Given the description of an element on the screen output the (x, y) to click on. 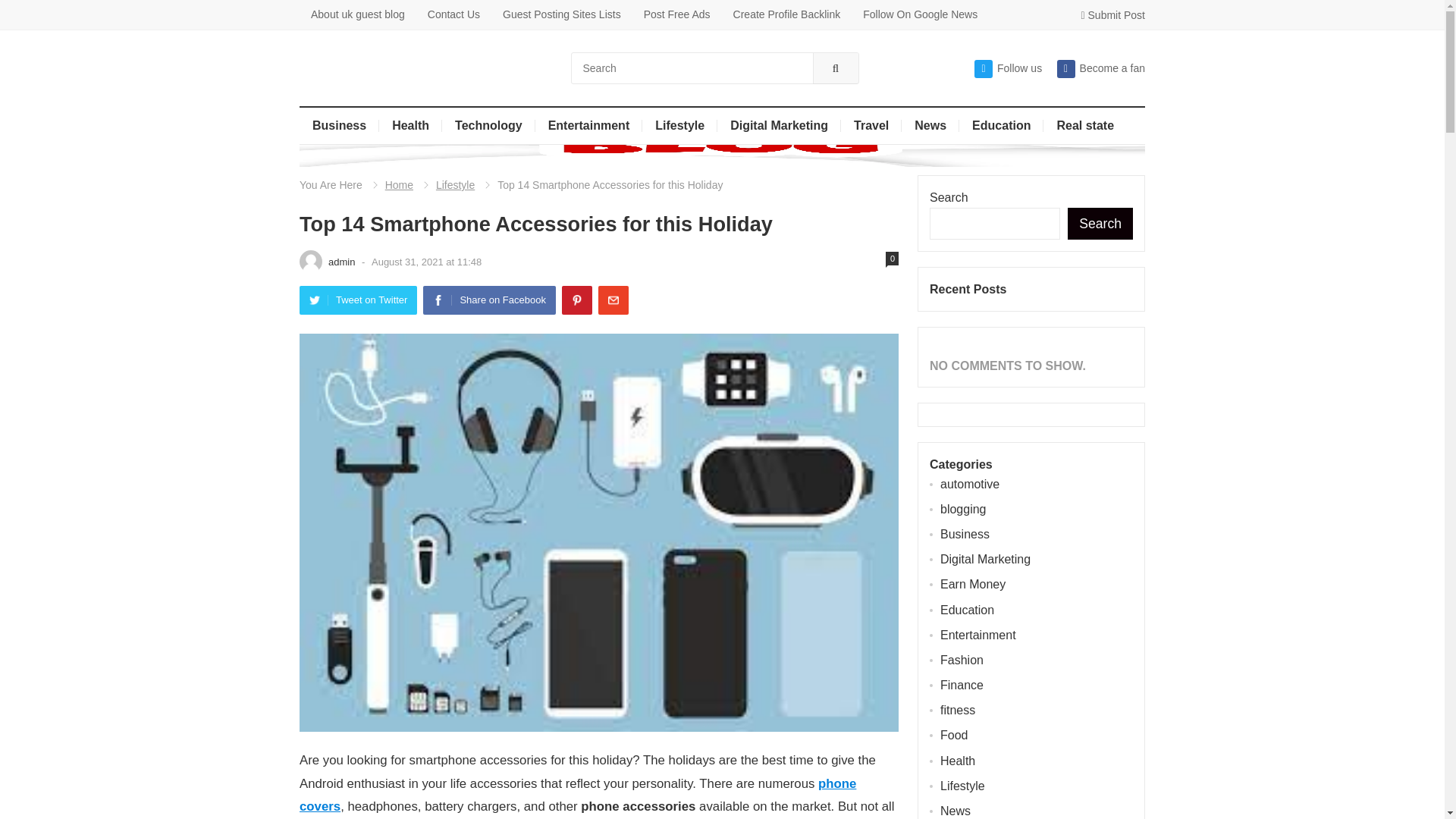
Business (338, 125)
Post Free Ads (676, 14)
About uk guest blog (357, 14)
Submit Post (1113, 15)
Real state (1084, 125)
Technology (488, 125)
Follow On Google News (919, 14)
Submit Post (1113, 15)
Contact Us (454, 14)
Become a fan (1100, 68)
